Given the description of an element on the screen output the (x, y) to click on. 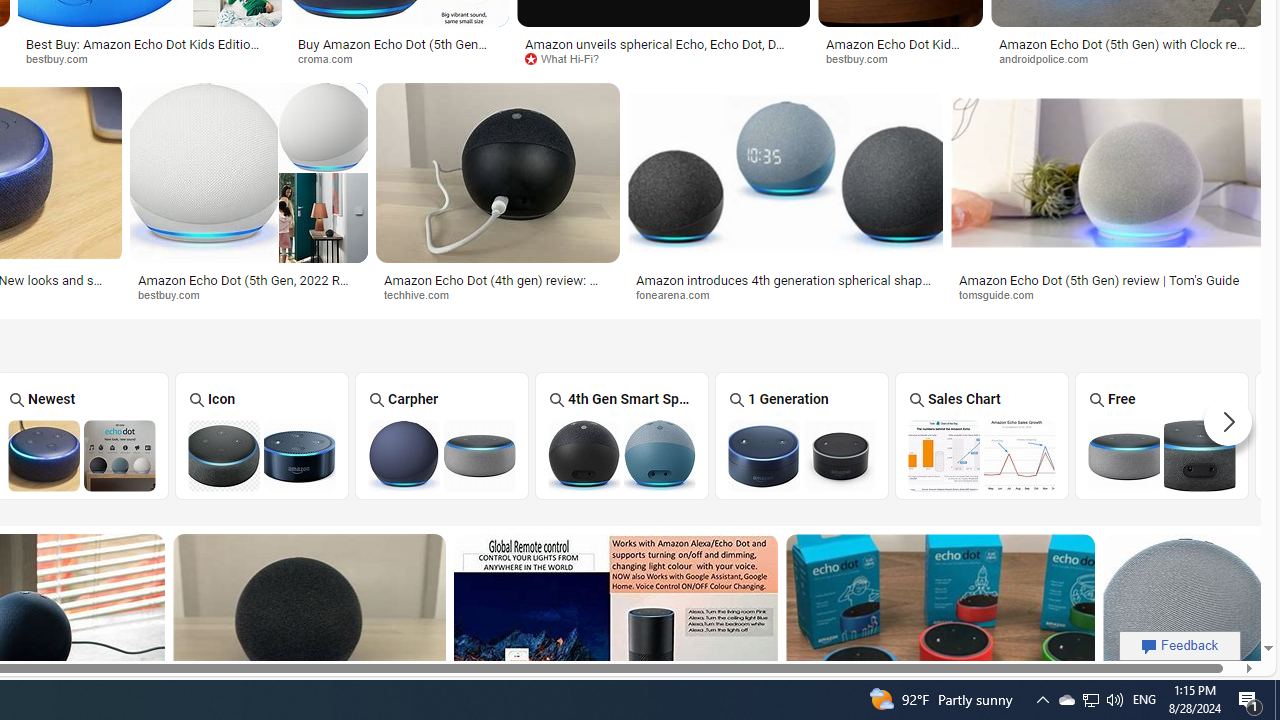
Sales Chart (981, 435)
techhive.com (423, 294)
Amazon Echo Dot 1 Generation (802, 455)
1 Generation (801, 435)
Image result for Amazon Echo Dot Colors (1184, 623)
croma.com (332, 57)
tomsguide.com (1003, 294)
Scroll more suggestions right (1227, 421)
